Given the description of an element on the screen output the (x, y) to click on. 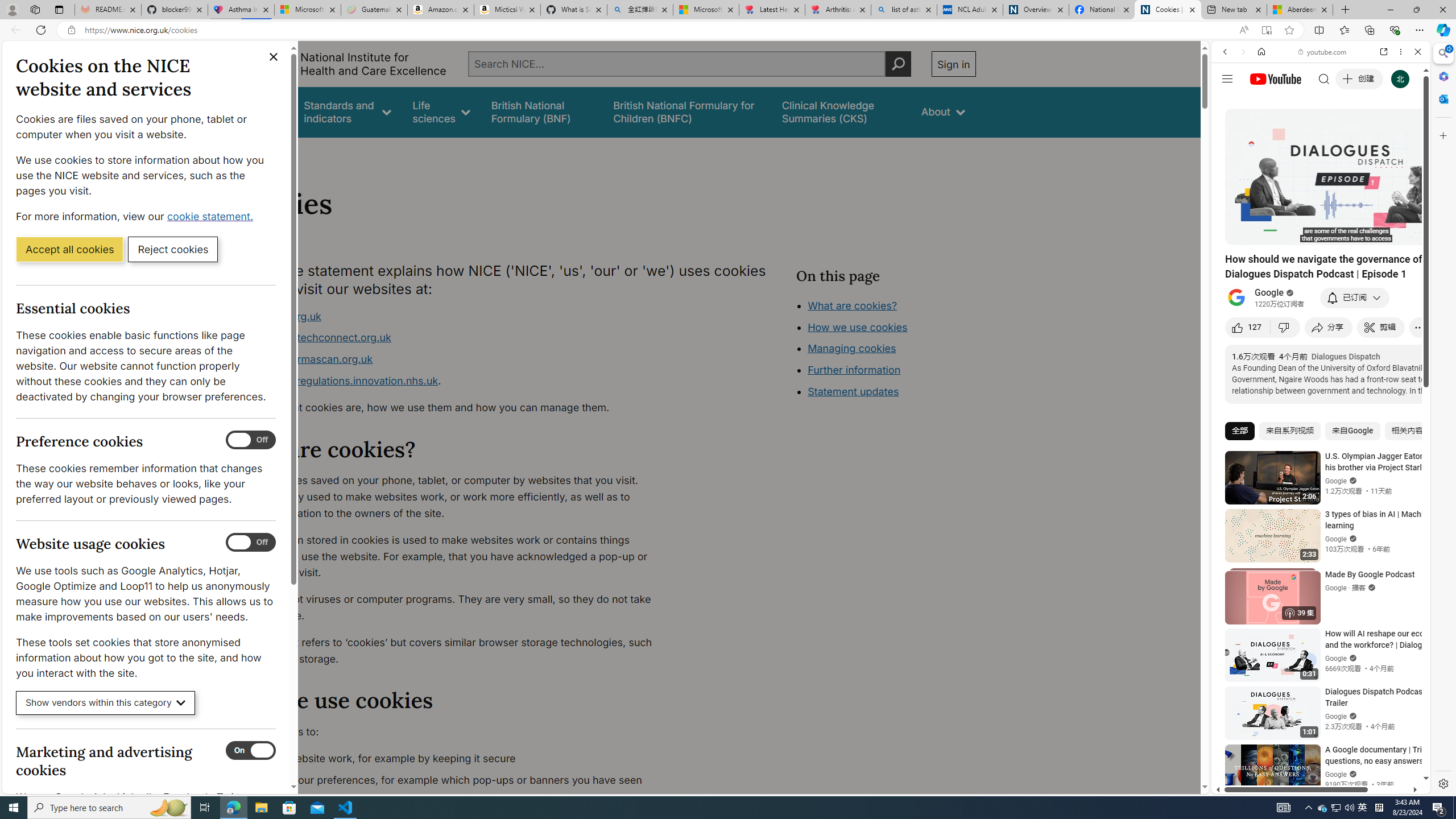
Statement updates (853, 391)
